Given the description of an element on the screen output the (x, y) to click on. 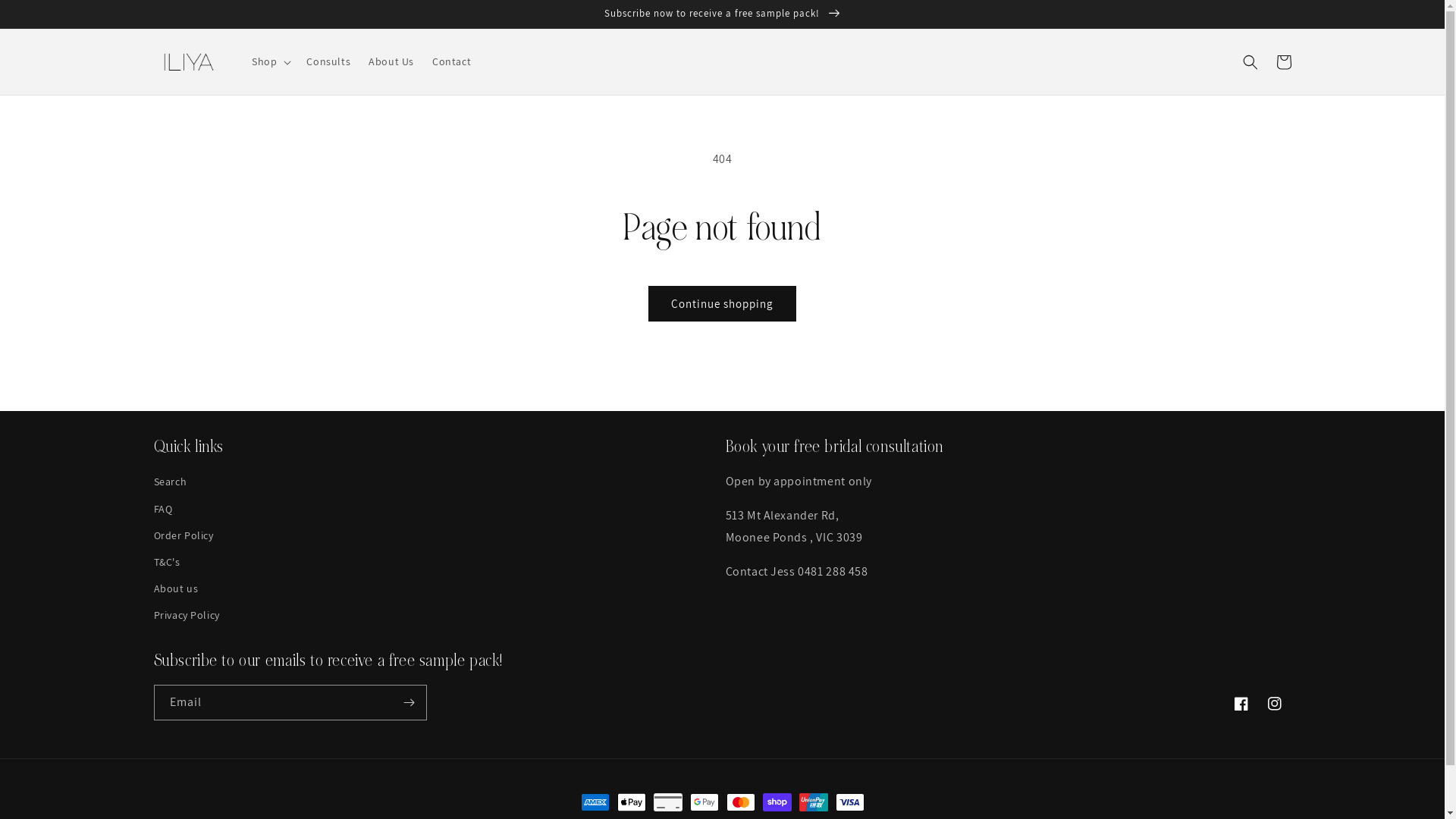
Privacy Policy Element type: text (186, 615)
Continue shopping Element type: text (722, 303)
FAQ Element type: text (162, 508)
Order Policy Element type: text (183, 535)
About Us Element type: text (391, 61)
Search Element type: text (169, 483)
Instagram Element type: text (1273, 703)
Contact Element type: text (451, 61)
Facebook Element type: text (1240, 703)
Cart Element type: text (1282, 61)
Subscribe now to receive a free sample pack! Element type: text (722, 14)
Consults Element type: text (328, 61)
T&C's Element type: text (166, 562)
About us Element type: text (175, 588)
